Given the description of an element on the screen output the (x, y) to click on. 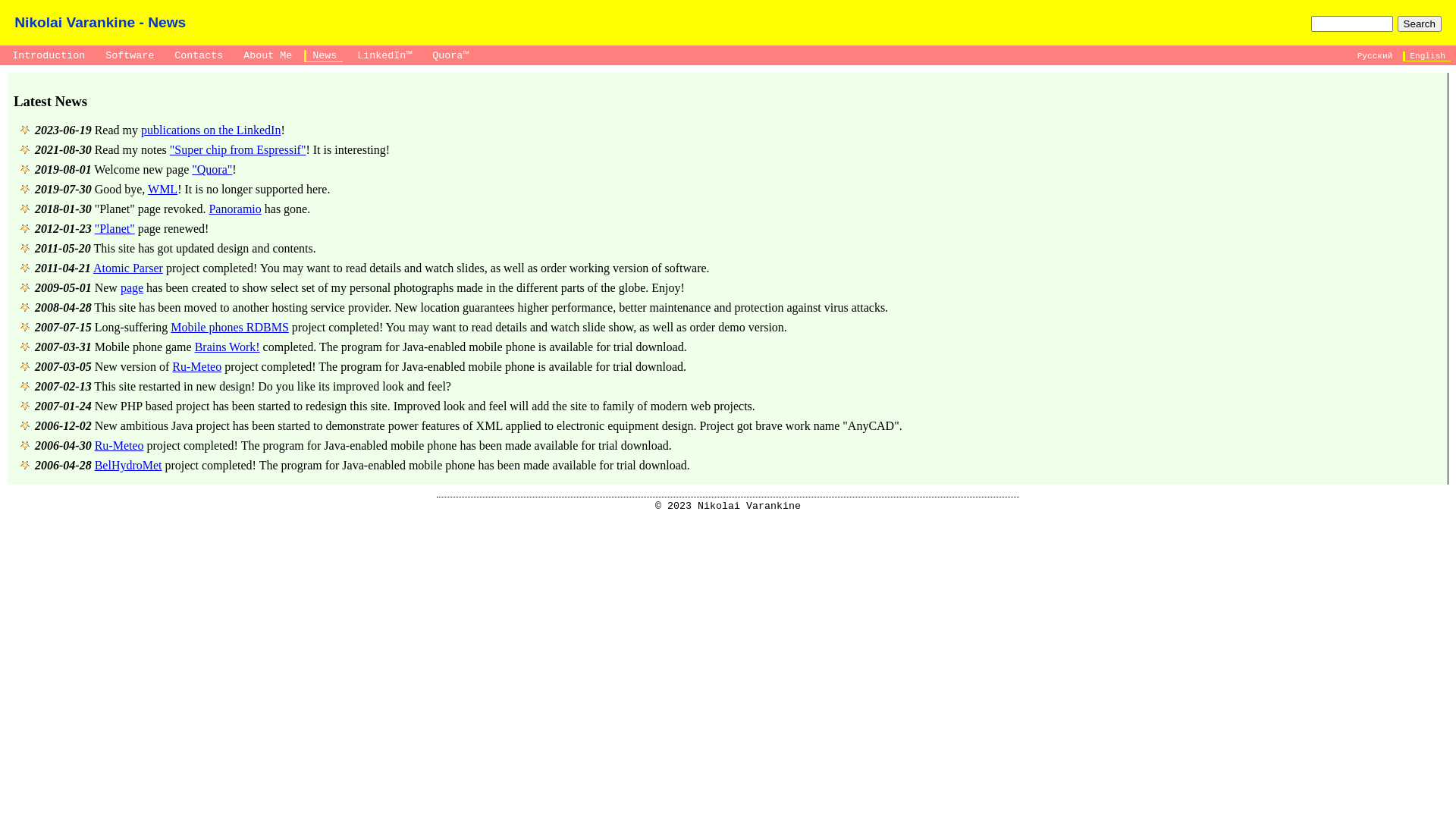
Mobile phones RDBMS Element type: text (229, 326)
"Quora" Element type: text (211, 169)
 News  Element type: text (323, 56)
 Contacts  Element type: text (197, 56)
WML Element type: text (162, 188)
 About Me  Element type: text (266, 56)
Ru-Meteo Element type: text (196, 366)
 English  Element type: text (1426, 56)
Ru-Meteo Element type: text (119, 445)
"Super chip from Espressif" Element type: text (237, 149)
BelHydroMet Element type: text (128, 464)
page Element type: text (131, 287)
publications on the LinkedIn Element type: text (210, 129)
"Planet" Element type: text (114, 228)
Atomic Parser Element type: text (128, 267)
Brains Work! Element type: text (227, 346)
 Software  Element type: text (128, 56)
Panoramio Element type: text (234, 208)
Search Element type: text (1419, 23)
 Introduction  Element type: text (47, 56)
